Given the description of an element on the screen output the (x, y) to click on. 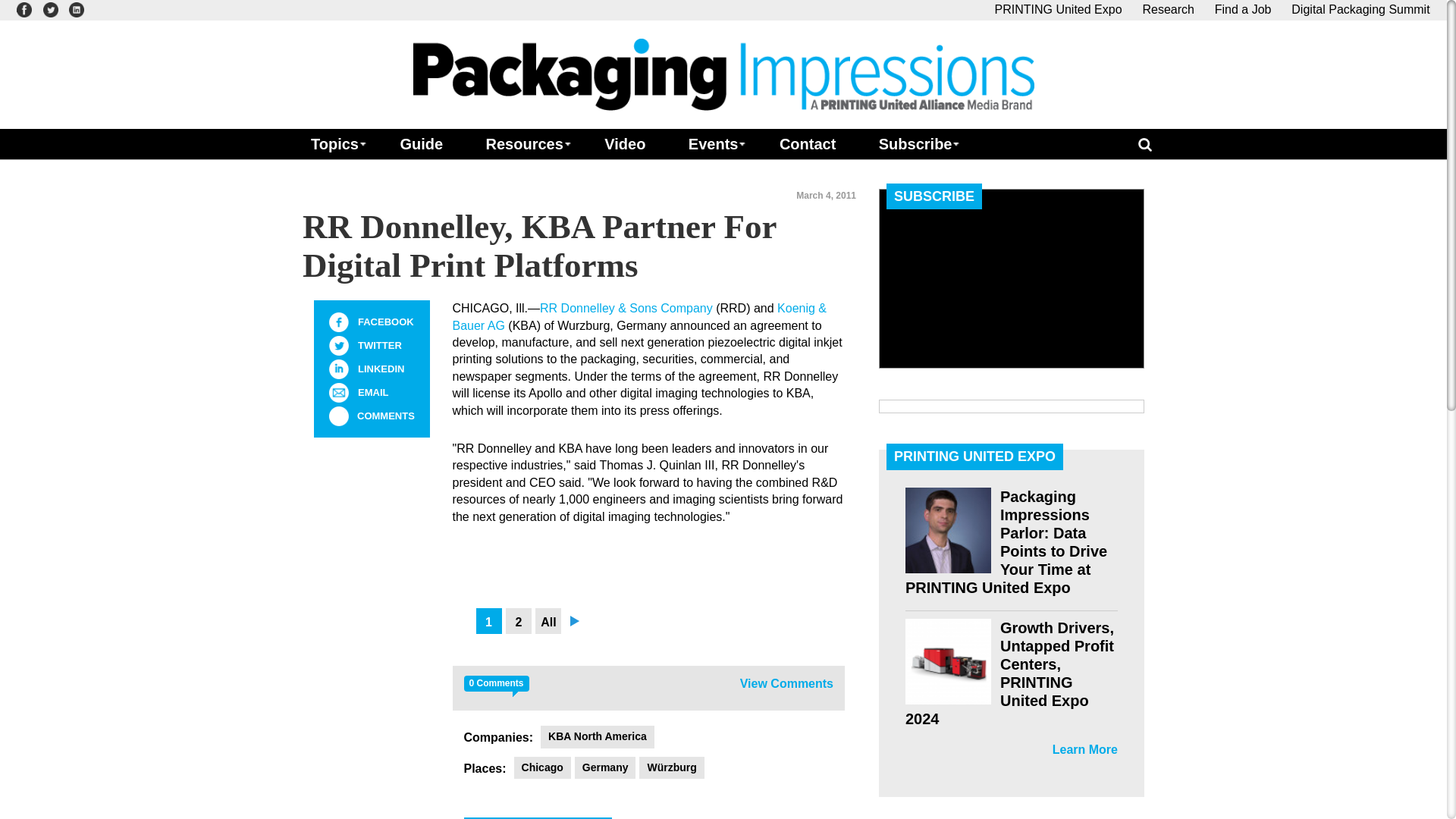
Topics (333, 143)
Resources (523, 143)
Subscribe (914, 143)
Find a Job (1242, 9)
Contact (807, 143)
Facebook (339, 322)
Events (712, 143)
PRINTING United Expo (1058, 9)
Guide (420, 143)
LinkedIn (339, 369)
